Given the description of an element on the screen output the (x, y) to click on. 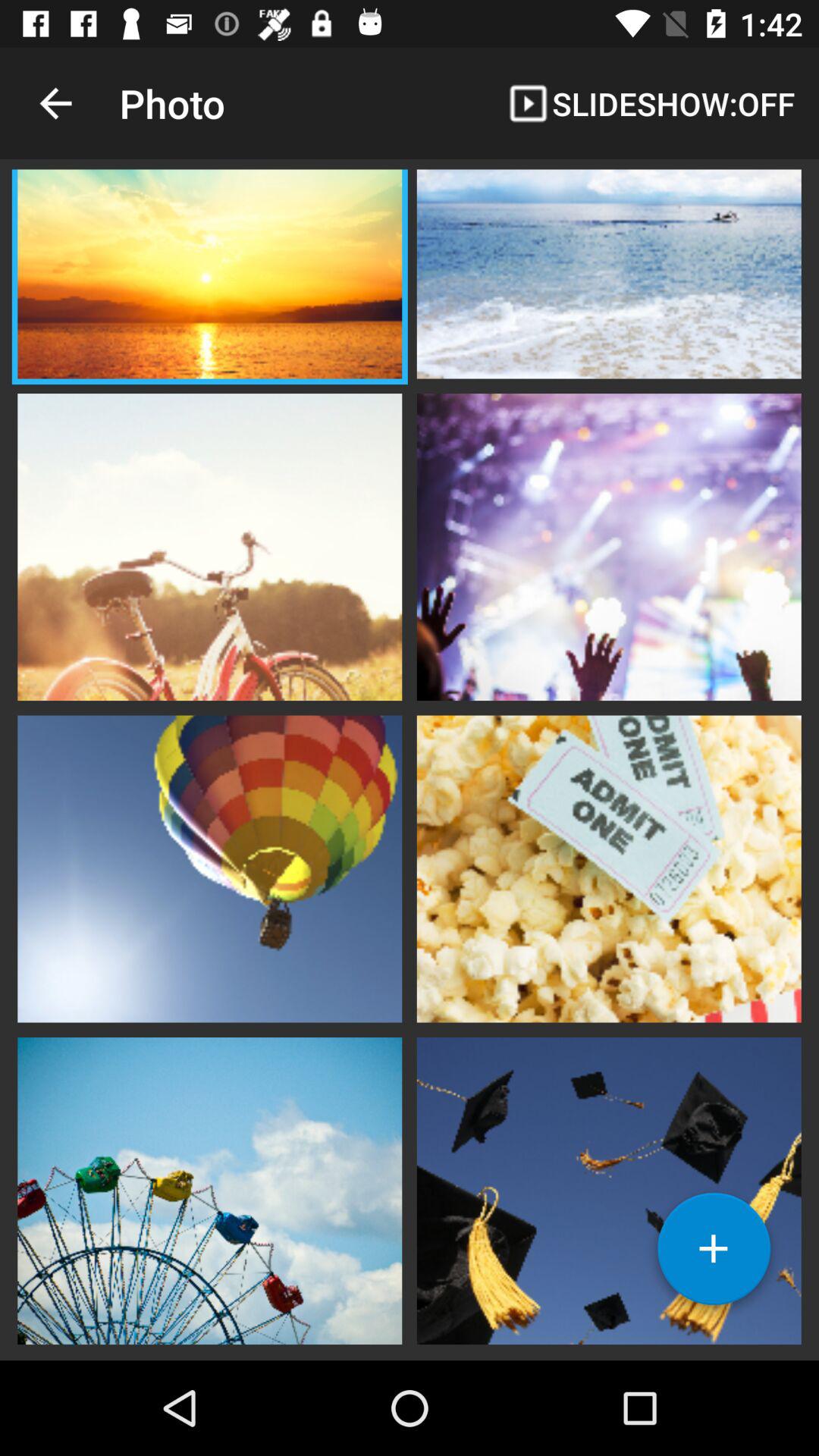
select the picture (209, 275)
